Given the description of an element on the screen output the (x, y) to click on. 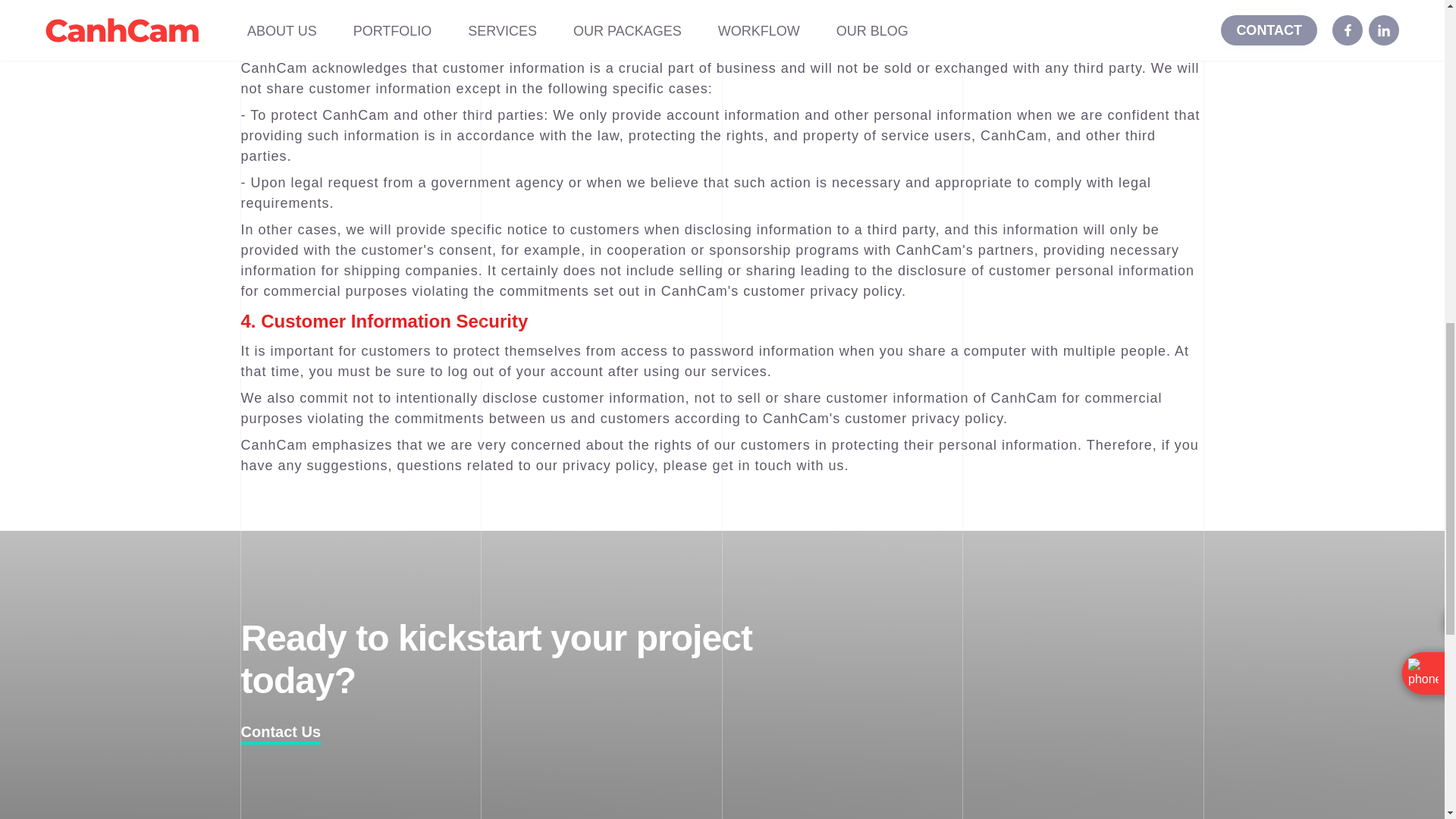
Follow us on the journey of green digital transformation (281, 730)
